Given the description of an element on the screen output the (x, y) to click on. 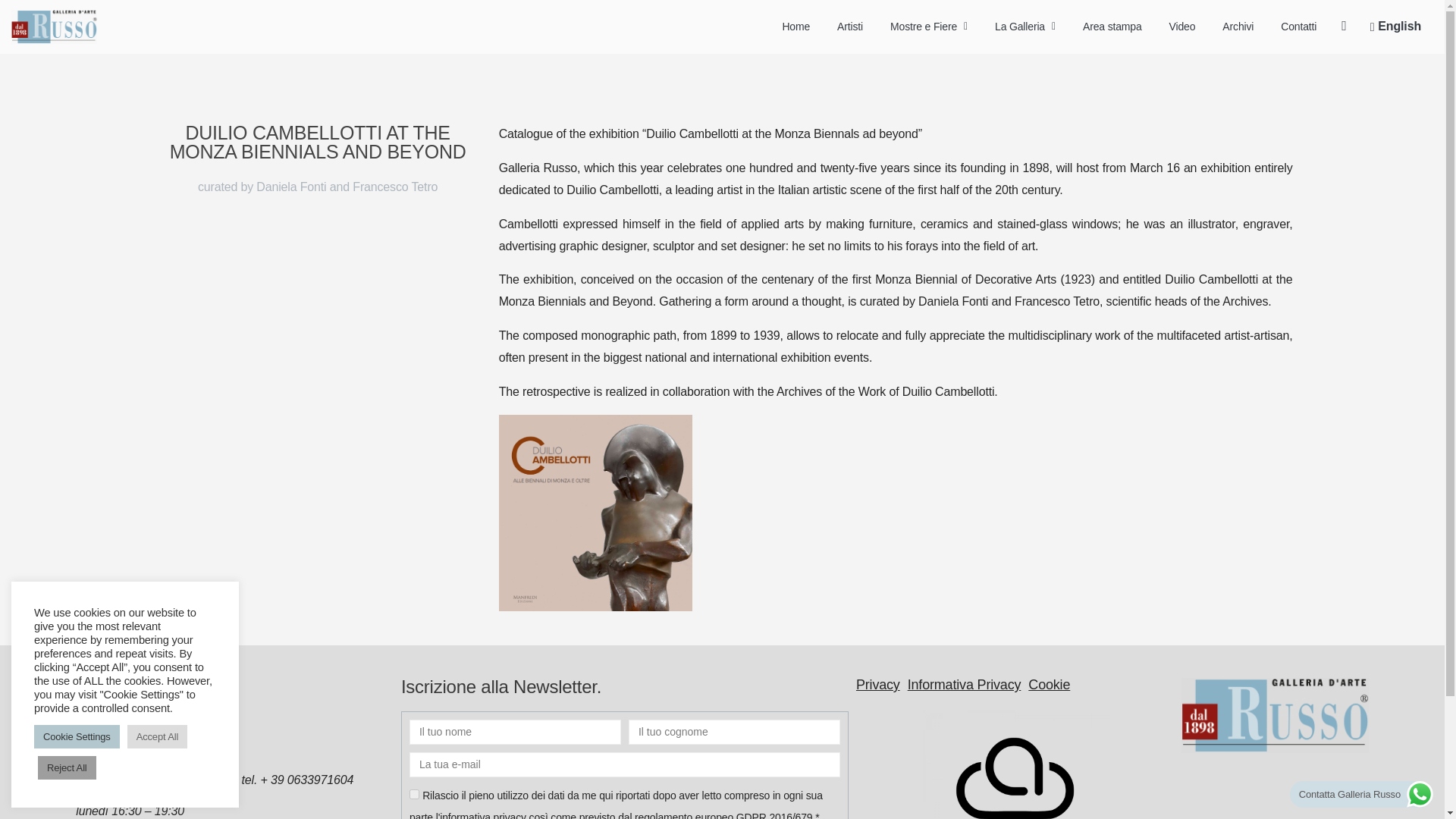
Home (795, 26)
Mostre e Fiere (928, 26)
Mostre e Fiere (928, 26)
Accept All (157, 736)
English (1395, 26)
Cookie (1048, 684)
Reject All (66, 767)
La Galleria (1024, 26)
Contatti (1298, 26)
Artisti (850, 26)
Informativa Privacy (964, 684)
Area stampa (1112, 26)
Archivi (1237, 26)
La Galleria (1024, 26)
